Given the description of an element on the screen output the (x, y) to click on. 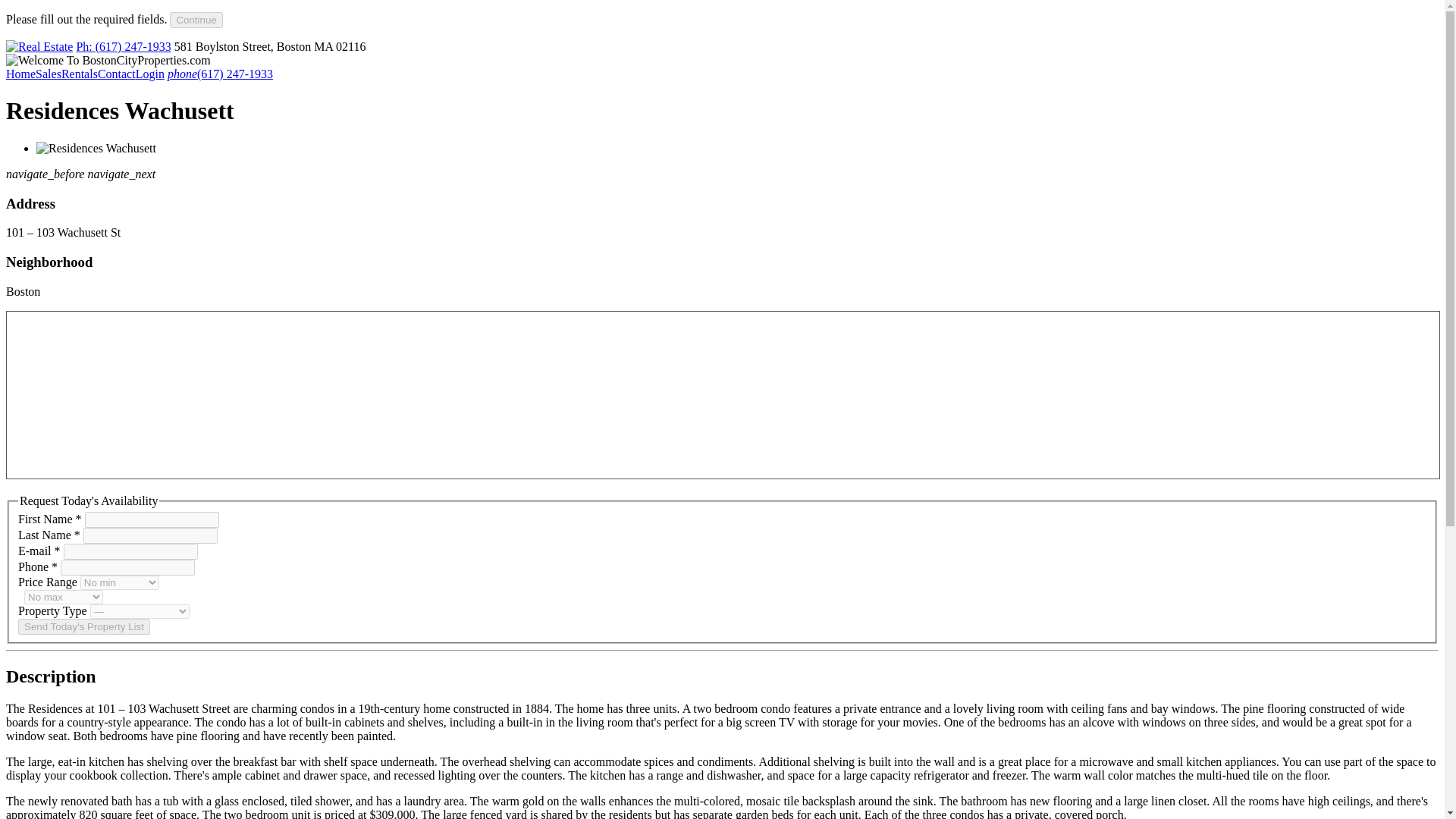
Contact (116, 73)
Home (19, 73)
Send Today's Property List (83, 626)
Sales (47, 73)
Login (149, 73)
Rentals (79, 73)
Continue (196, 19)
